Given the description of an element on the screen output the (x, y) to click on. 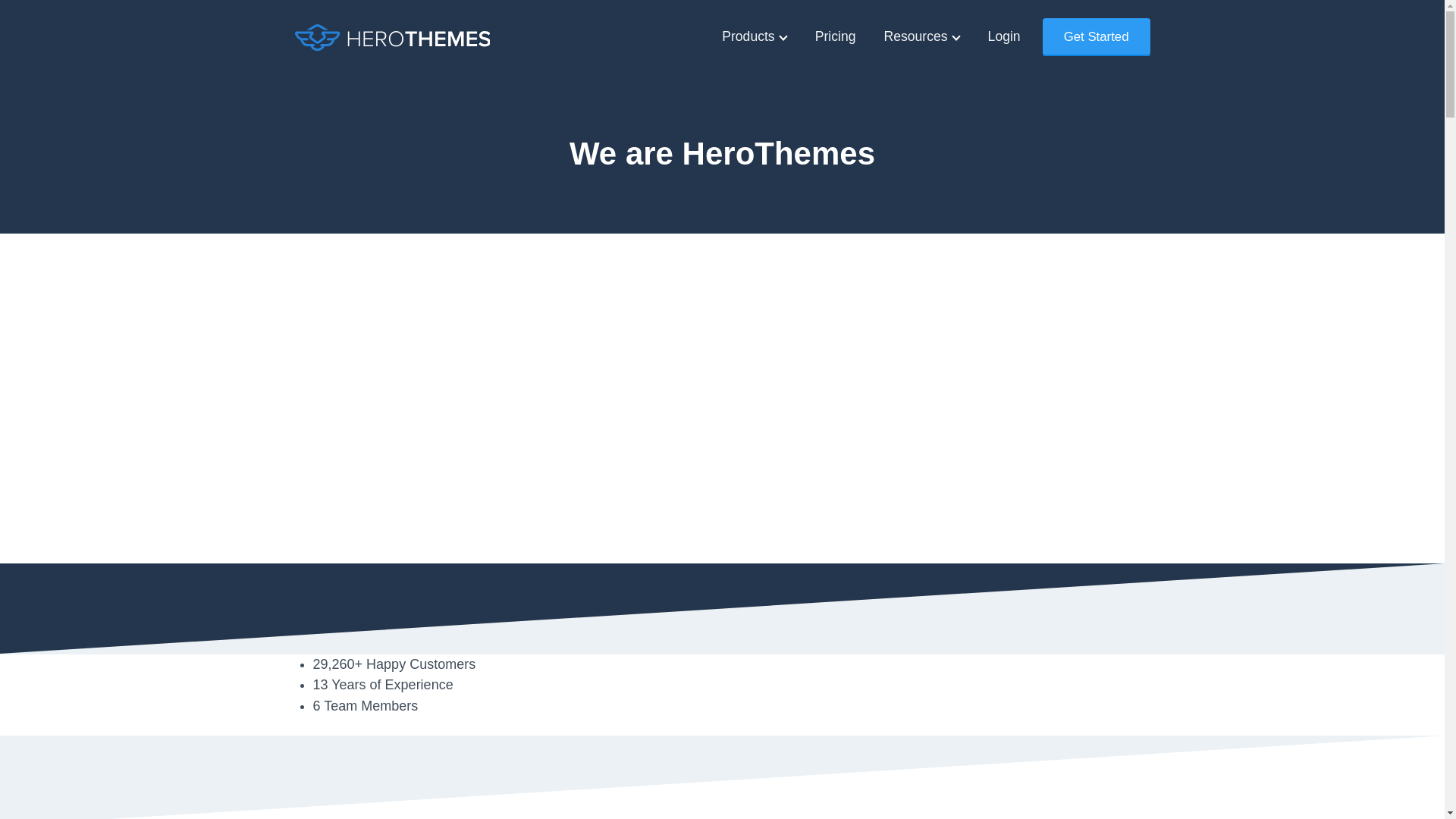
Products (754, 37)
HeroThemes (391, 37)
Get Started (1096, 37)
Pricing (835, 37)
Login (1003, 37)
Resources (921, 37)
